Given the description of an element on the screen output the (x, y) to click on. 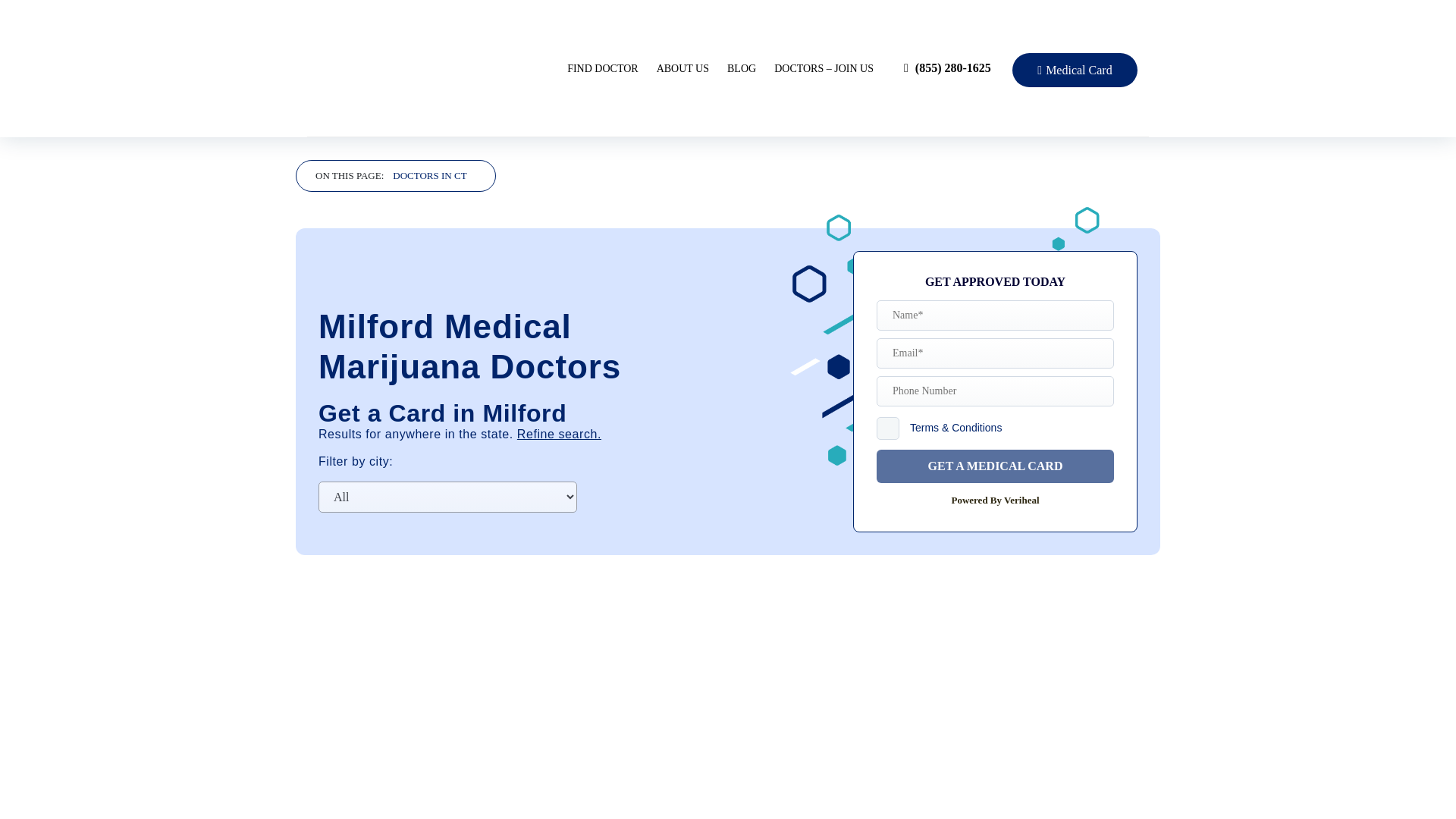
Medical Card (1074, 69)
ABOUT US (682, 68)
FIND DOCTOR (602, 68)
BLOG (740, 68)
DOCTORS IN CT (430, 175)
Marijuana Doctors logo (432, 66)
GET A MEDICAL CARD (994, 466)
